Given the description of an element on the screen output the (x, y) to click on. 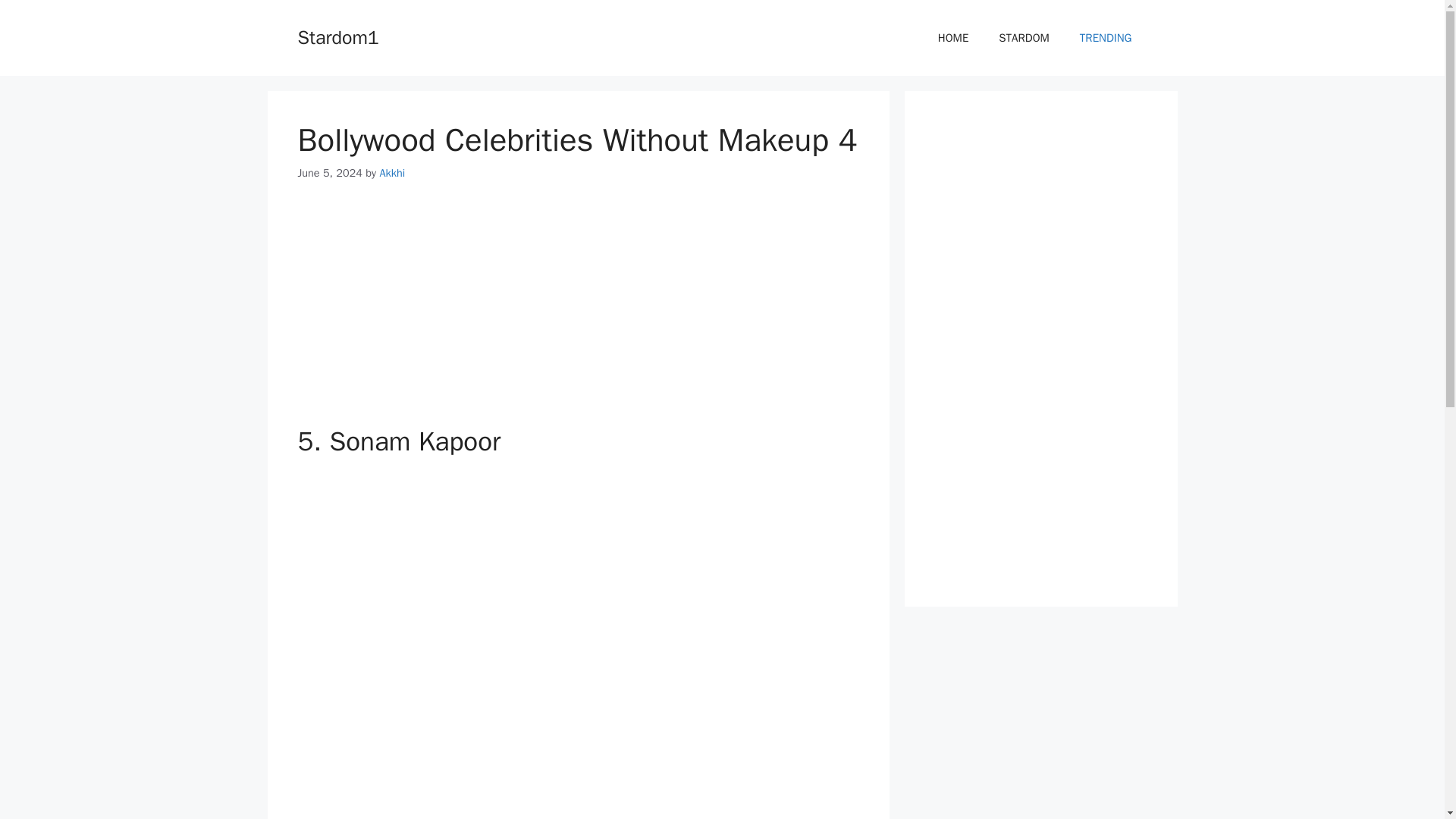
Advertisement (578, 761)
STARDOM (1024, 37)
View all posts by Akkhi (391, 172)
Akkhi (391, 172)
TRENDING (1105, 37)
Advertisement (578, 313)
HOME (953, 37)
Stardom1 (337, 37)
Advertisement (578, 578)
